Given the description of an element on the screen output the (x, y) to click on. 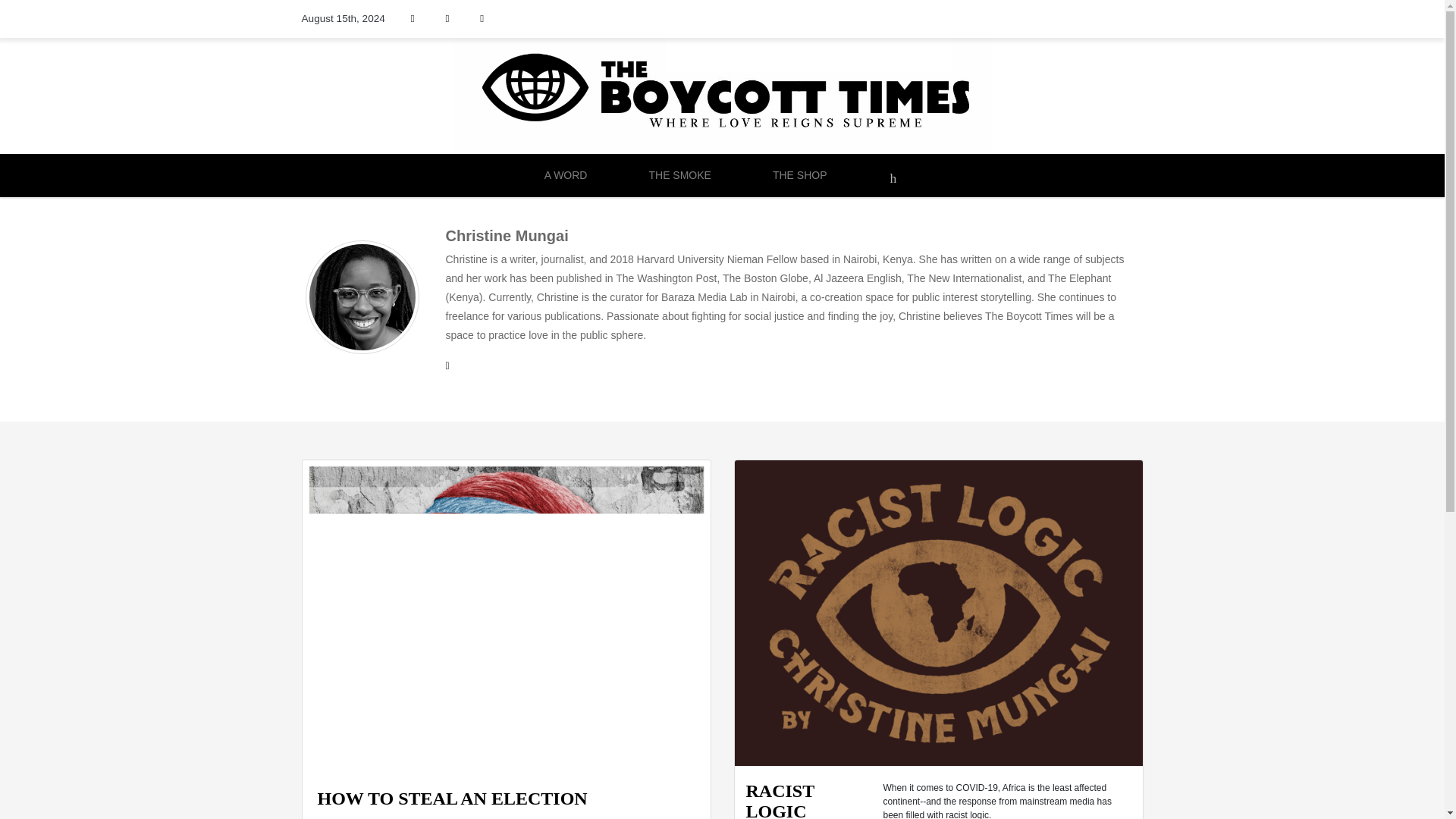
A Word (566, 175)
The Shop (799, 175)
RACIST LOGIC (808, 800)
A WORD (566, 175)
THE SHOP (799, 175)
Christine Mungai (372, 818)
RACIST LOGIC (808, 800)
HOW TO STEAL AN ELECTION (505, 616)
HOW TO STEAL AN ELECTION (451, 802)
RACIST LOGIC (937, 613)
